Given the description of an element on the screen output the (x, y) to click on. 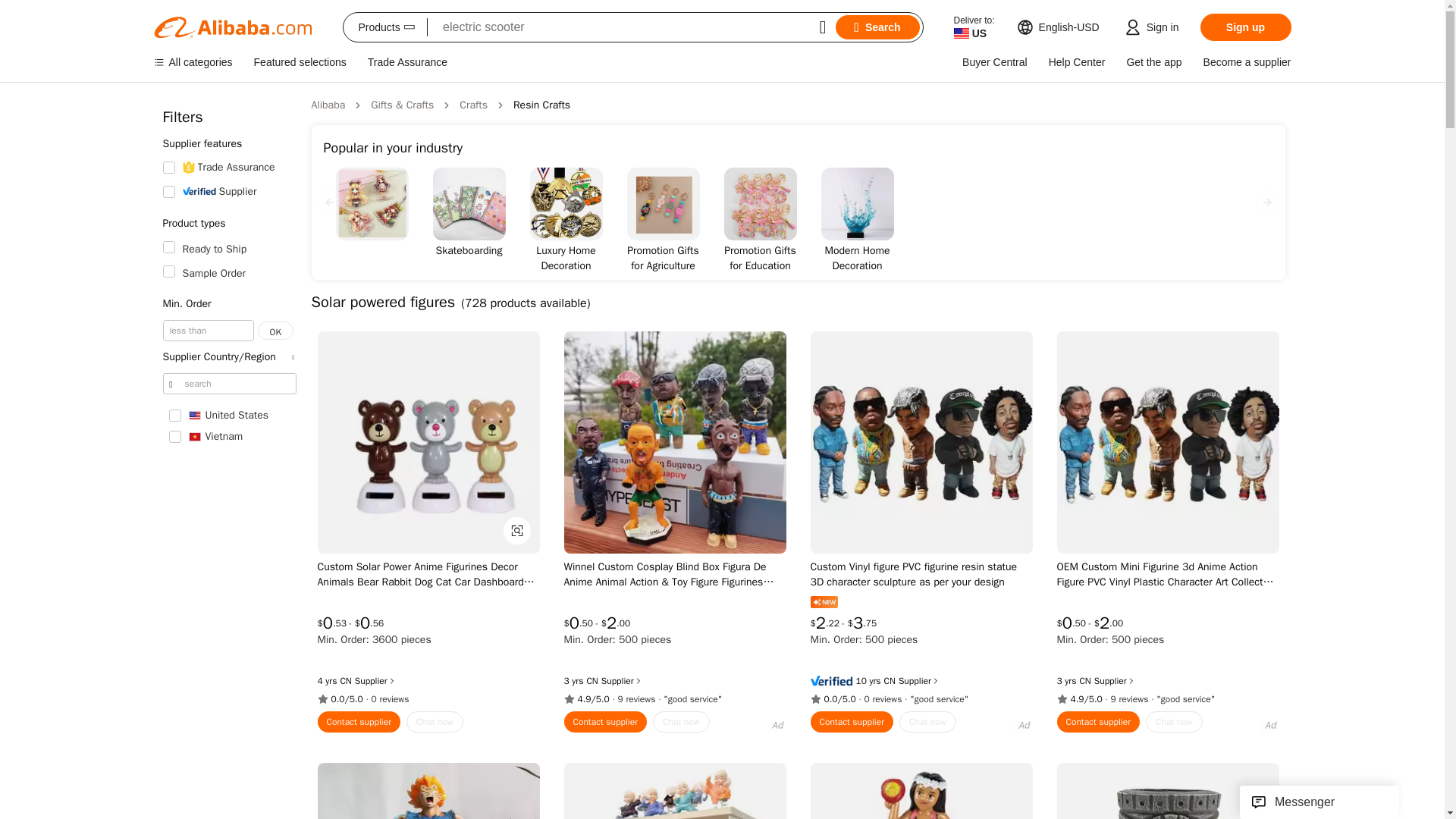
Product types (228, 223)
Supplier features (228, 143)
Min. Order (228, 304)
